Given the description of an element on the screen output the (x, y) to click on. 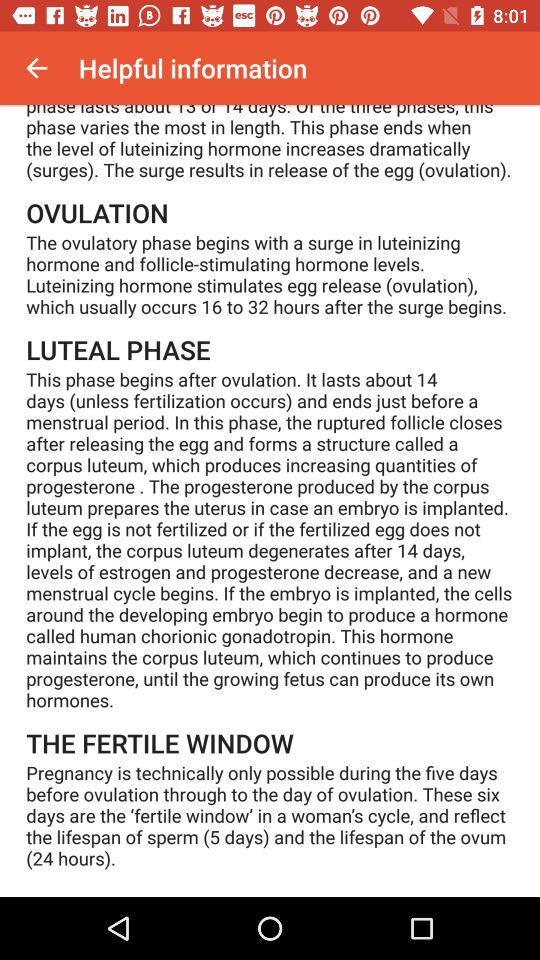
choose icon at the top left corner (36, 68)
